Given the description of an element on the screen output the (x, y) to click on. 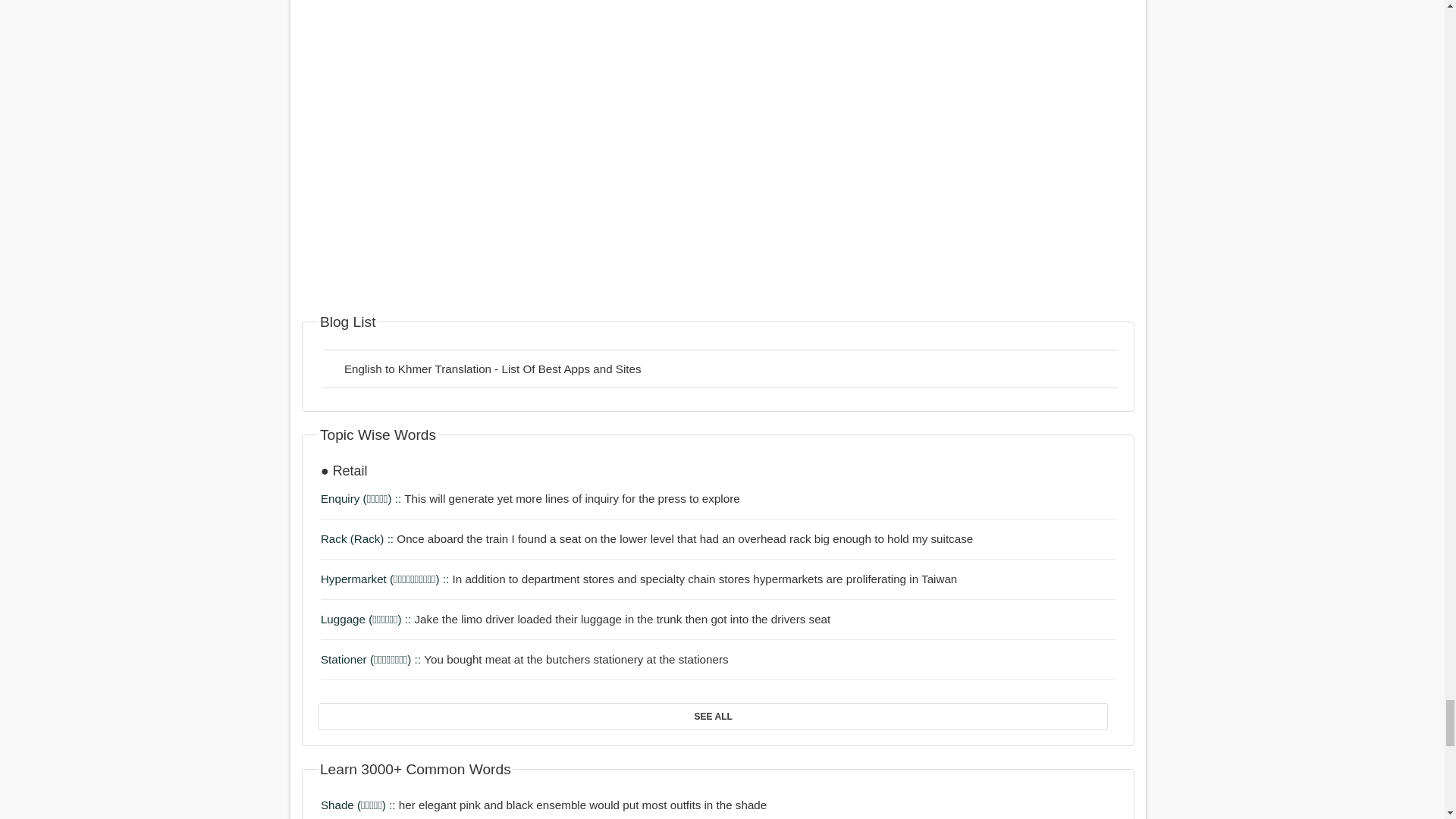
English to Khmer Translation - List Of Best Apps and Sites (720, 368)
